Given the description of an element on the screen output the (x, y) to click on. 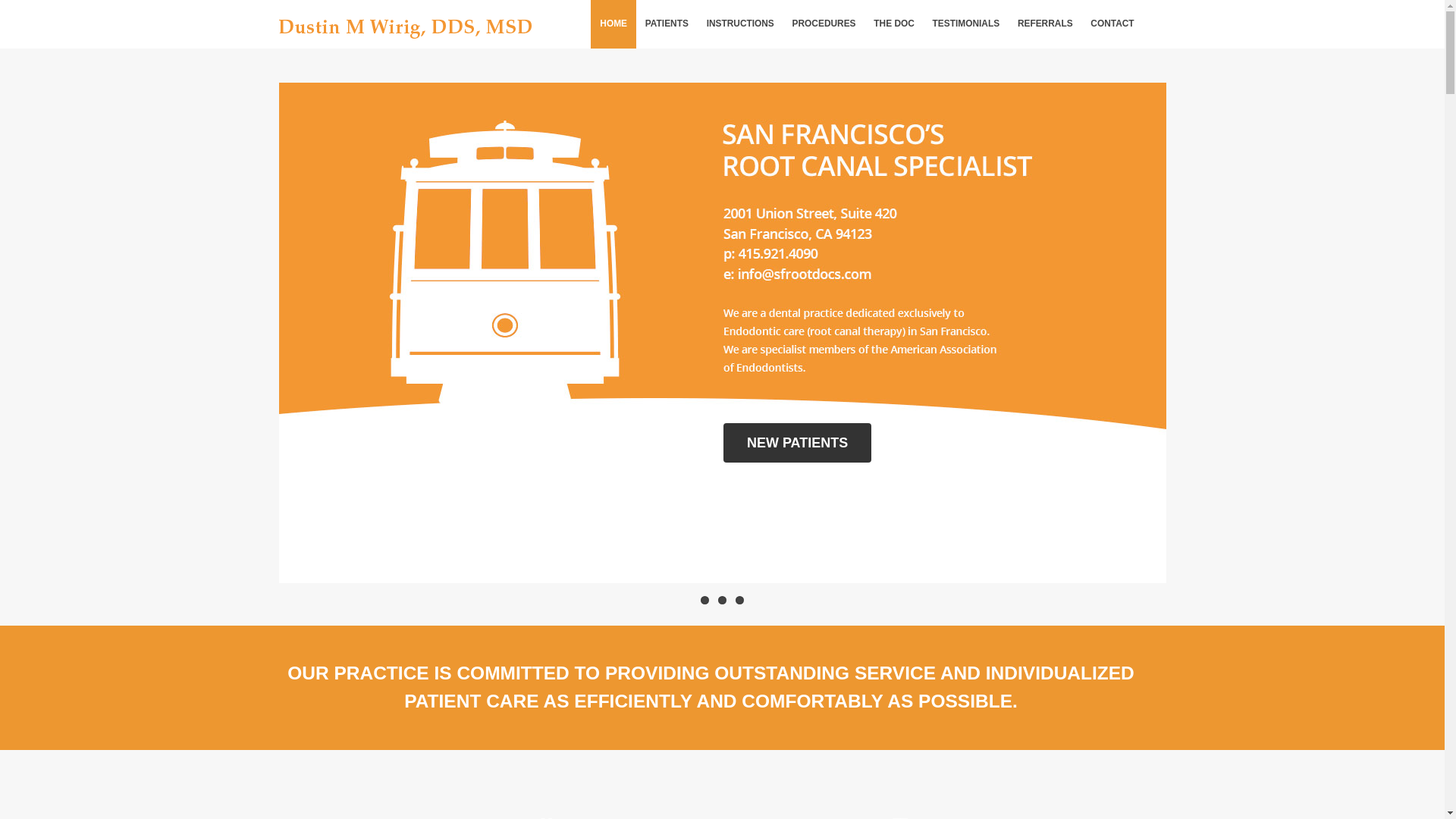
1 (704, 600)
INSTRUCTIONS (740, 24)
NEW PATIENTS (683, 442)
PROCEDURES (823, 24)
HOME (612, 24)
2 (721, 600)
3 (739, 600)
REFERRALS (1045, 24)
THE DOC (893, 24)
